Given the description of an element on the screen output the (x, y) to click on. 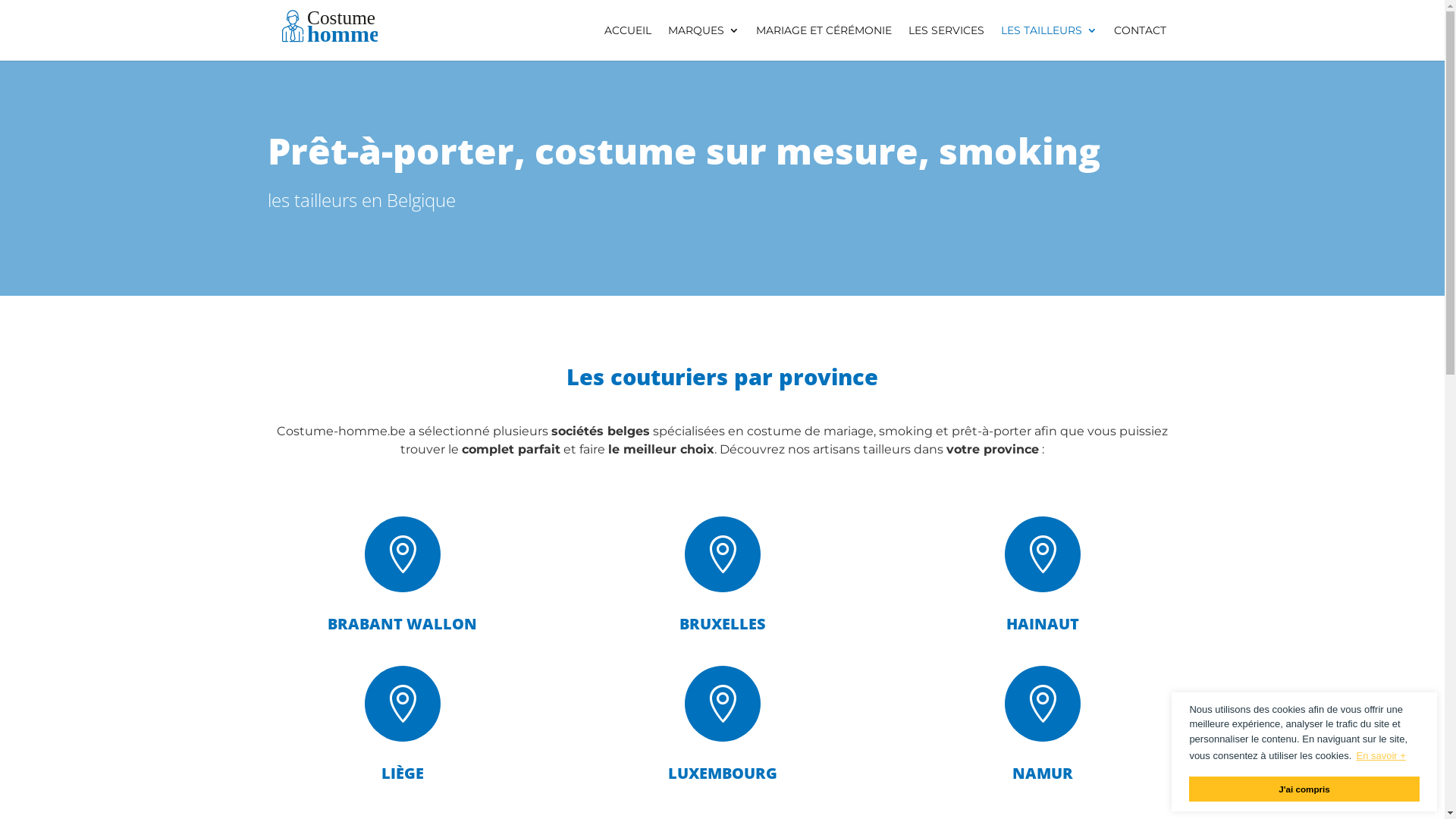
J'ai compris Element type: text (1303, 788)
BRABANT WALLON Element type: text (401, 623)
LES TAILLEURS Element type: text (1049, 42)
MARQUES Element type: text (702, 42)
HAINAUT Element type: text (1041, 623)
BRUXELLES Element type: text (722, 623)
LUXEMBOURG Element type: text (721, 772)
ACCUEIL Element type: text (626, 42)
En savoir + Element type: text (1381, 755)
CONTACT Element type: text (1139, 42)
LES SERVICES Element type: text (946, 42)
NAMUR Element type: text (1041, 772)
